Given the description of an element on the screen output the (x, y) to click on. 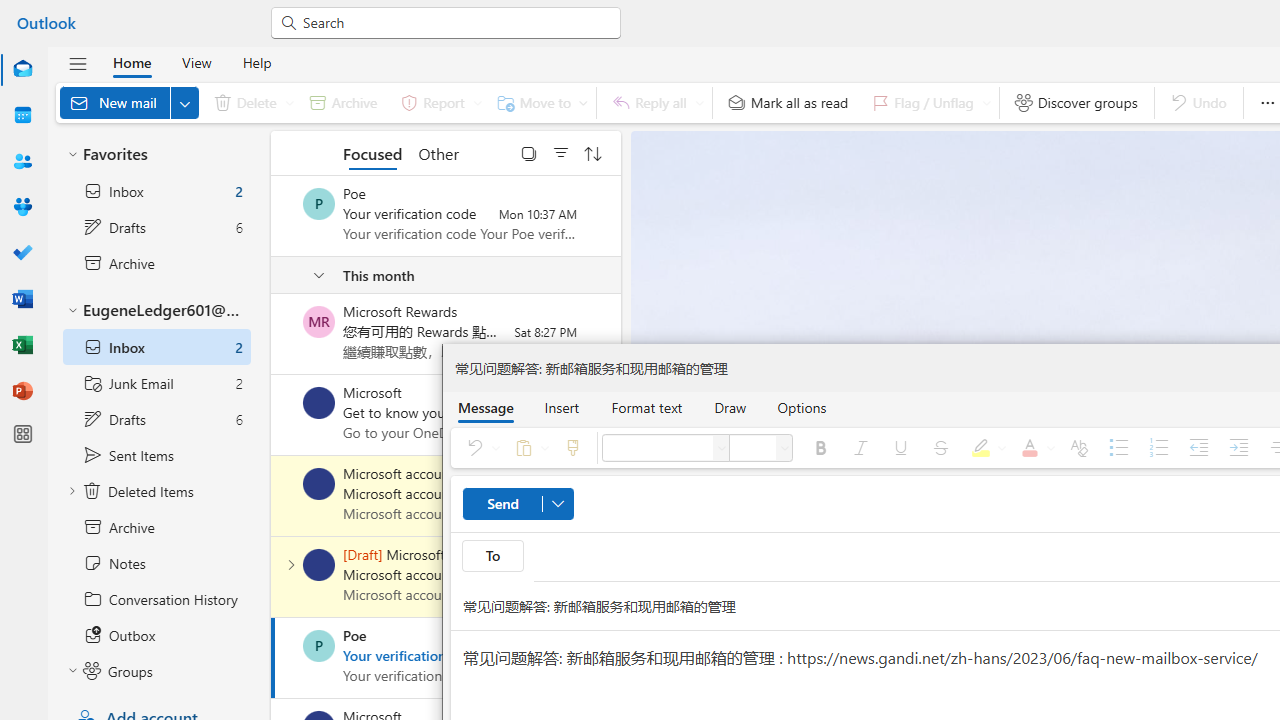
Clear formatting (1078, 447)
More apps (22, 434)
Search for email, meetings, files and more. (454, 21)
